Given the description of an element on the screen output the (x, y) to click on. 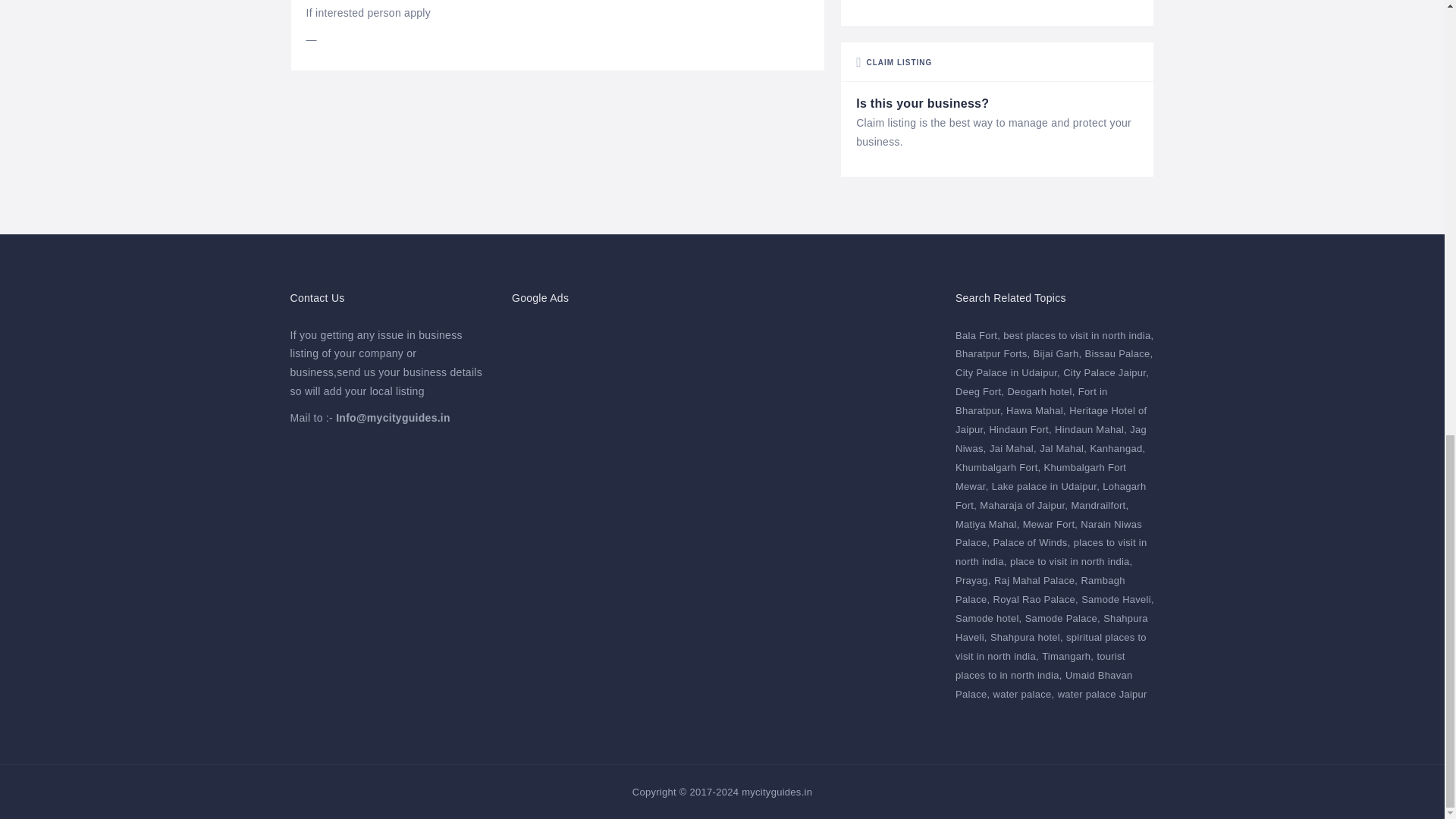
Bharatpur Forts (992, 353)
City Palace in Udaipur (1007, 372)
Bijai Garh (1057, 353)
best places to visit in north india (1078, 335)
Bala Fort (977, 335)
Bissau Palace (1118, 353)
City Palace Jaipur (1105, 372)
